Given the description of an element on the screen output the (x, y) to click on. 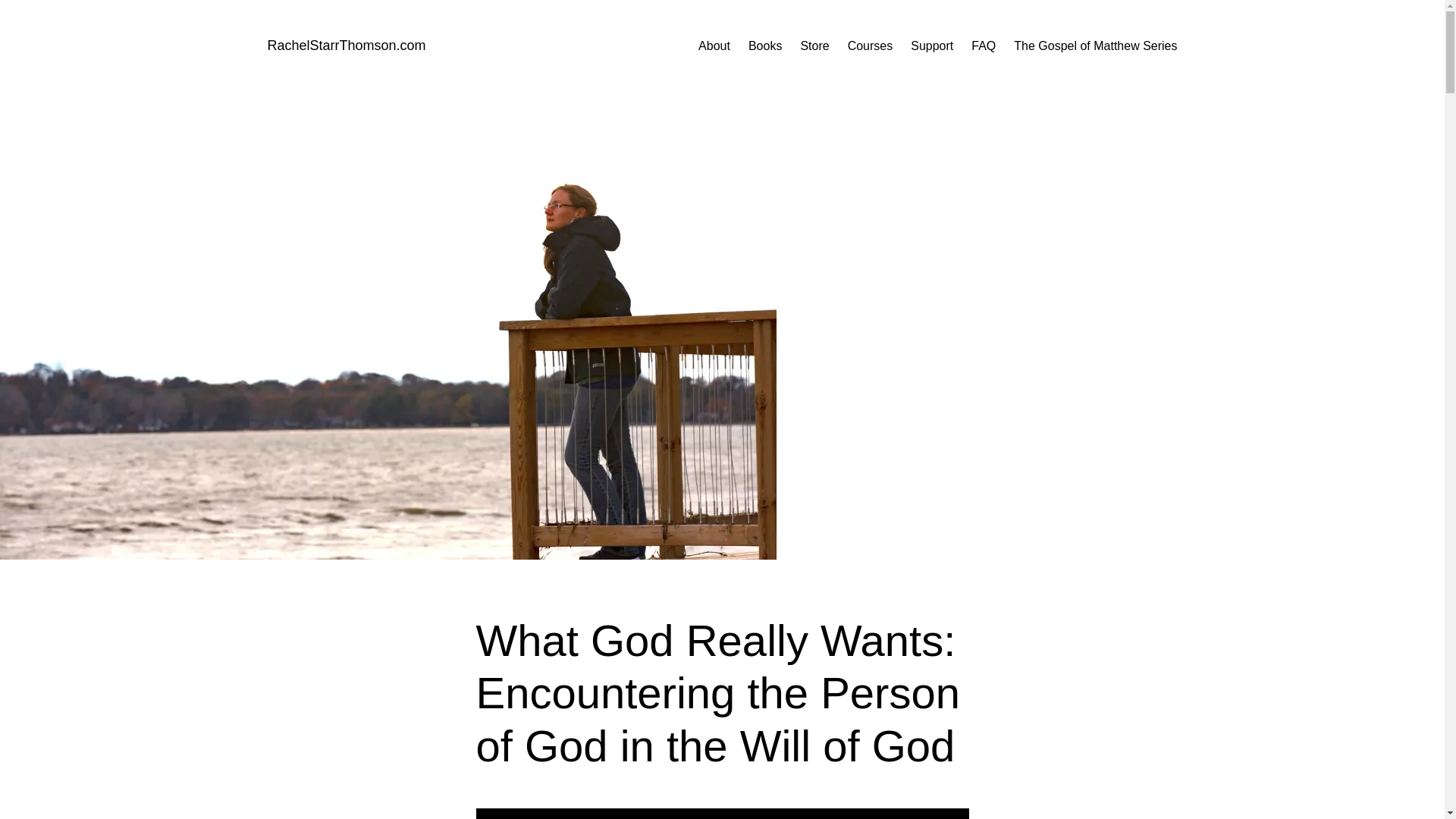
RachelStarrThomson.com (345, 45)
Store (813, 46)
FAQ (983, 46)
The Gospel of Matthew Series (1094, 46)
Books (764, 46)
Courses (870, 46)
Support (932, 46)
About (714, 46)
